Given the description of an element on the screen output the (x, y) to click on. 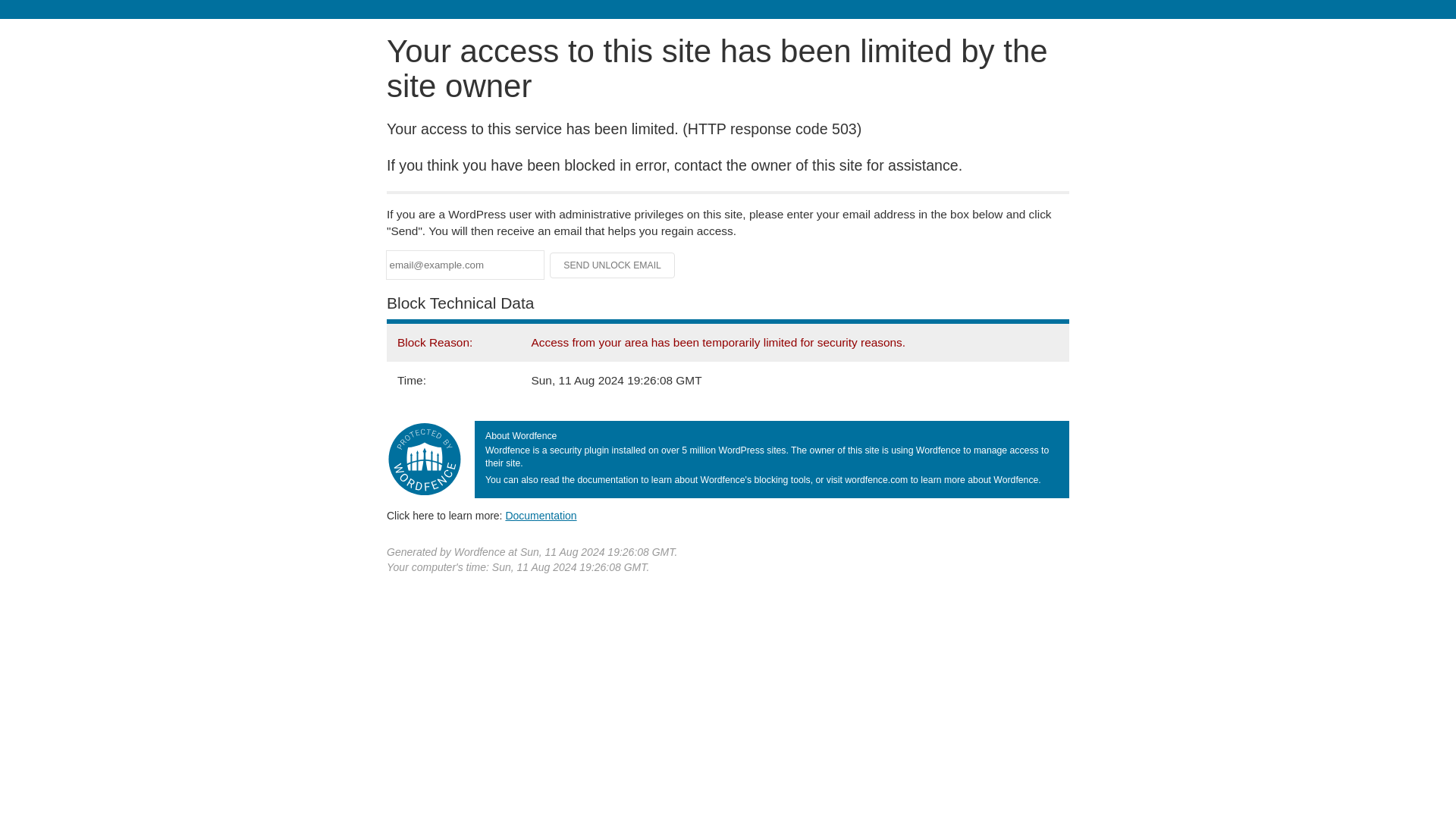
Send Unlock Email (612, 265)
Documentation (540, 515)
Send Unlock Email (612, 265)
